Given the description of an element on the screen output the (x, y) to click on. 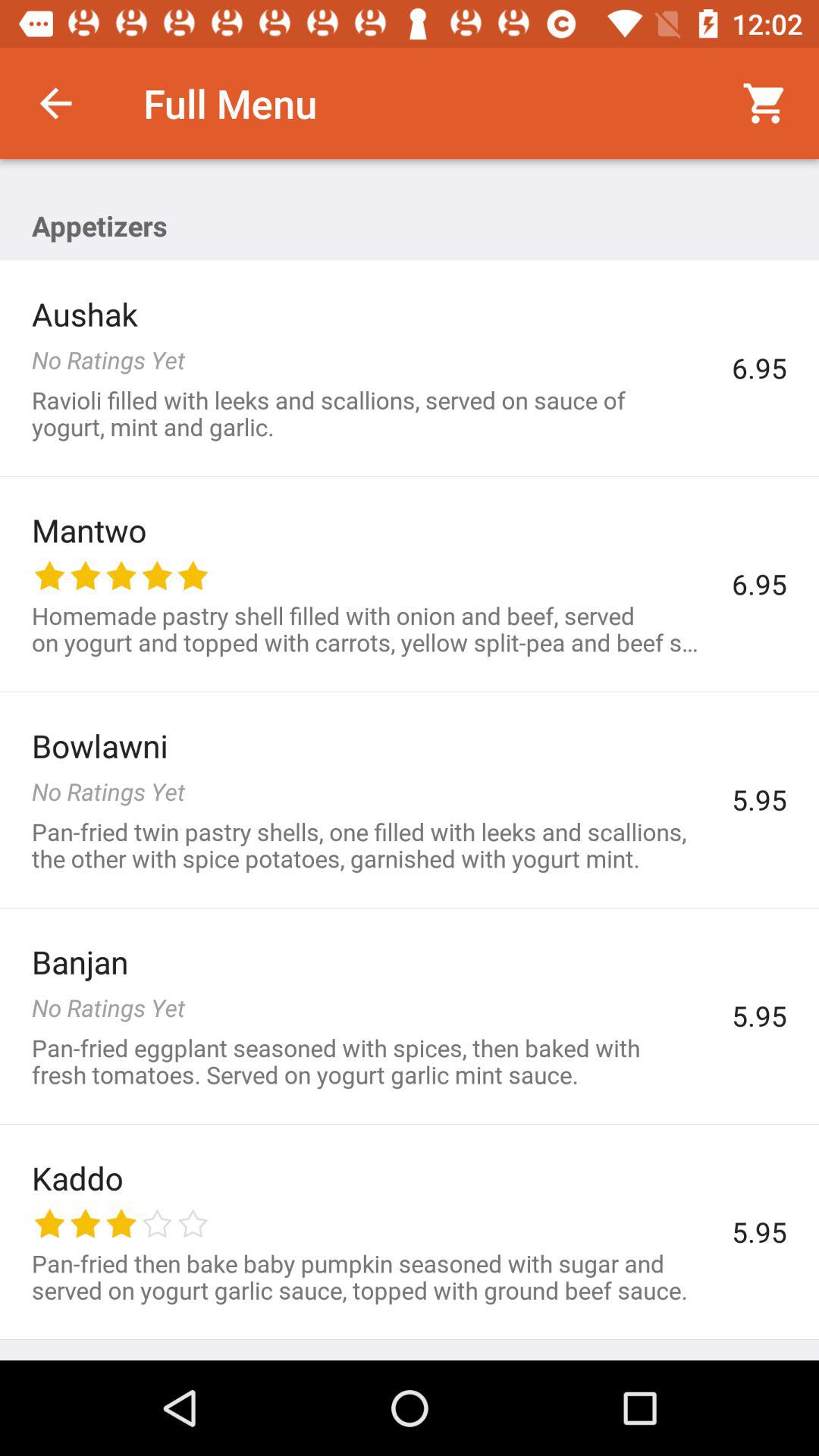
open the icon above the aushak icon (55, 103)
